Given the description of an element on the screen output the (x, y) to click on. 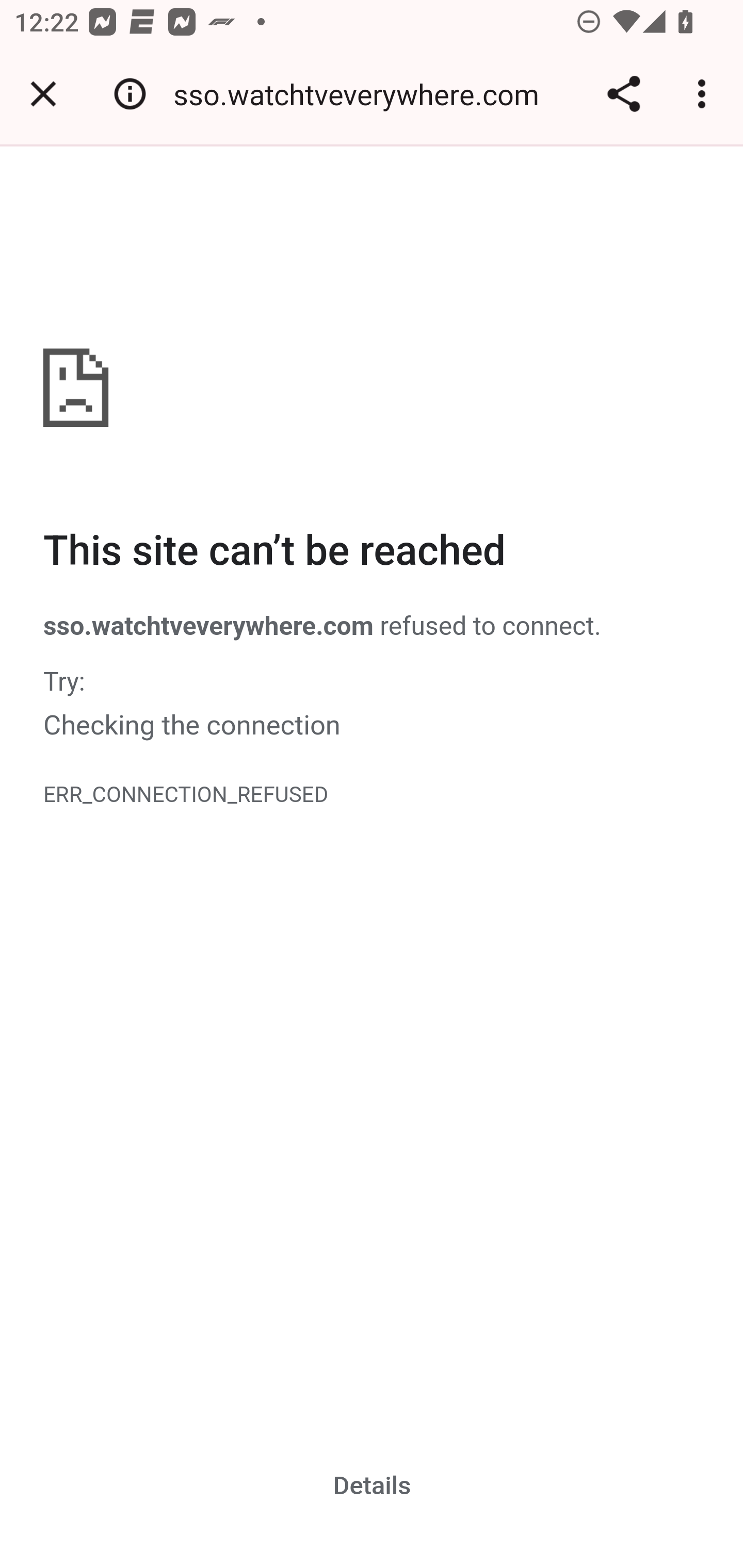
Close tab (43, 93)
Share (623, 93)
Customize and control Google Chrome (705, 93)
Your connection to this site is not secure (129, 93)
sso.watchtveverywhere.com (363, 93)
Details (372, 1485)
